Given the description of an element on the screen output the (x, y) to click on. 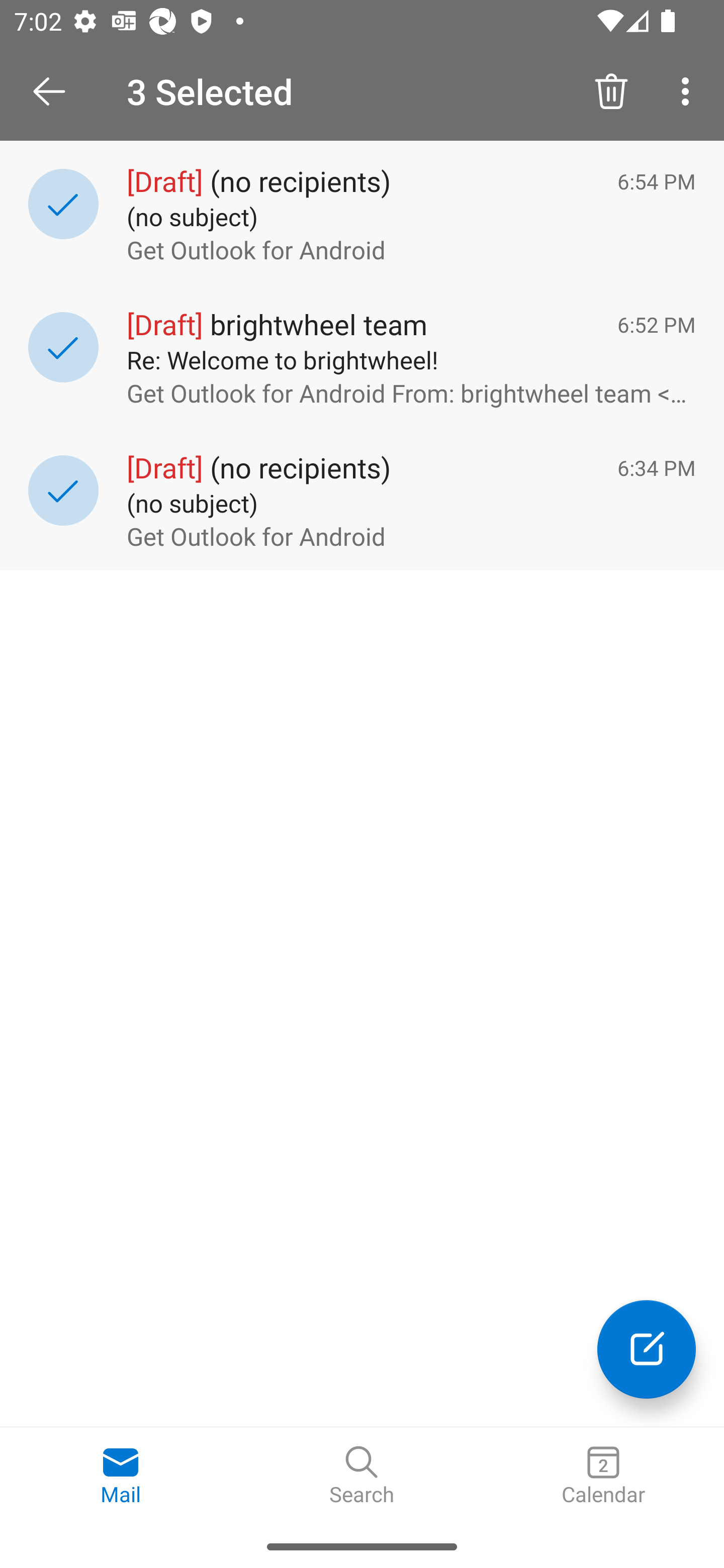
Delete (611, 90)
More options (688, 90)
Open Navigation Drawer (55, 91)
Compose (646, 1348)
Search (361, 1475)
Calendar (603, 1475)
